Given the description of an element on the screen output the (x, y) to click on. 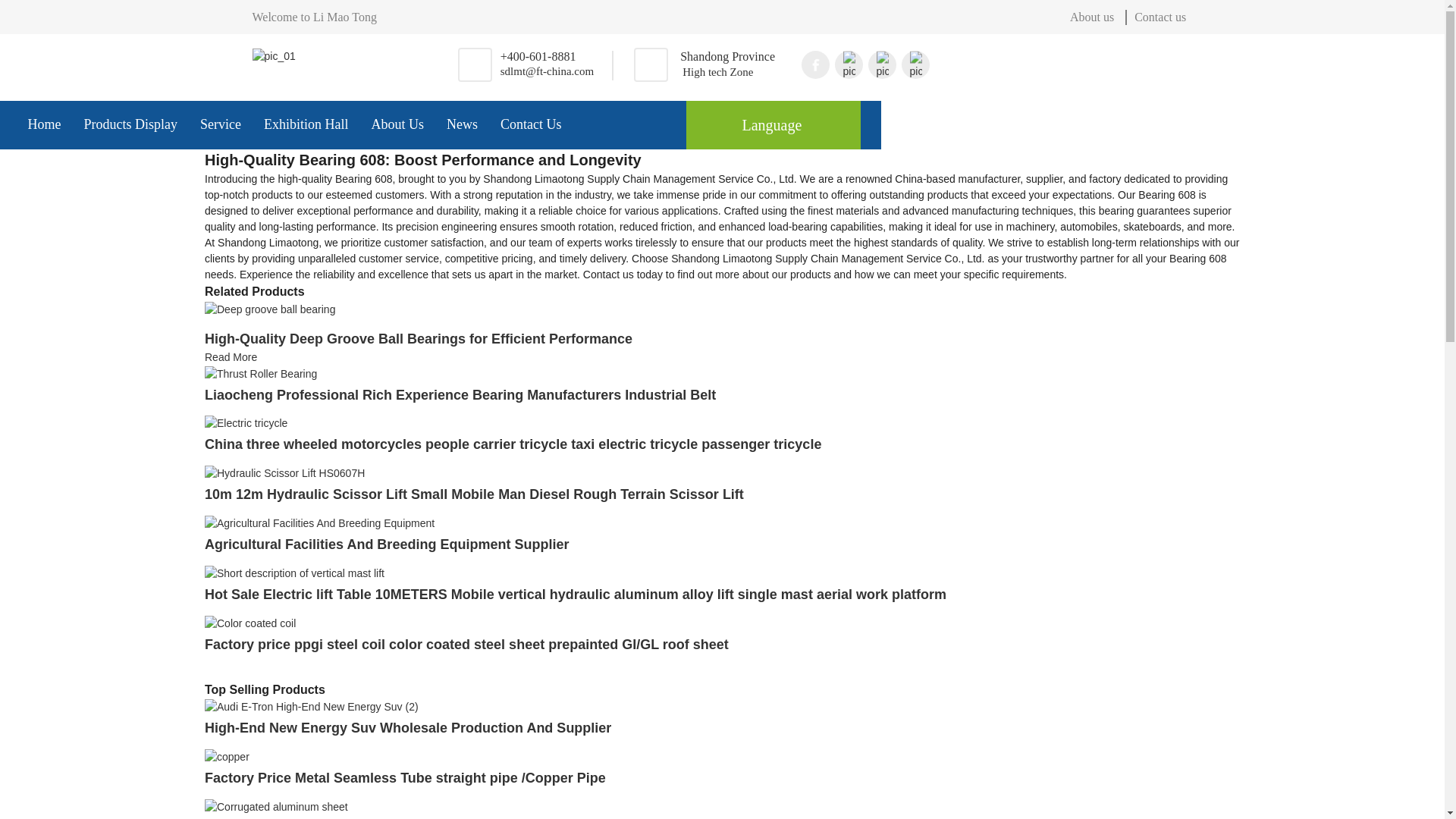
Home (44, 124)
Products Display (129, 124)
High tech Zone (728, 72)
Welcome to Li Mao Tong (656, 17)
Agricultural Facilities And Breeding Equipment Supplier (319, 522)
